Given the description of an element on the screen output the (x, y) to click on. 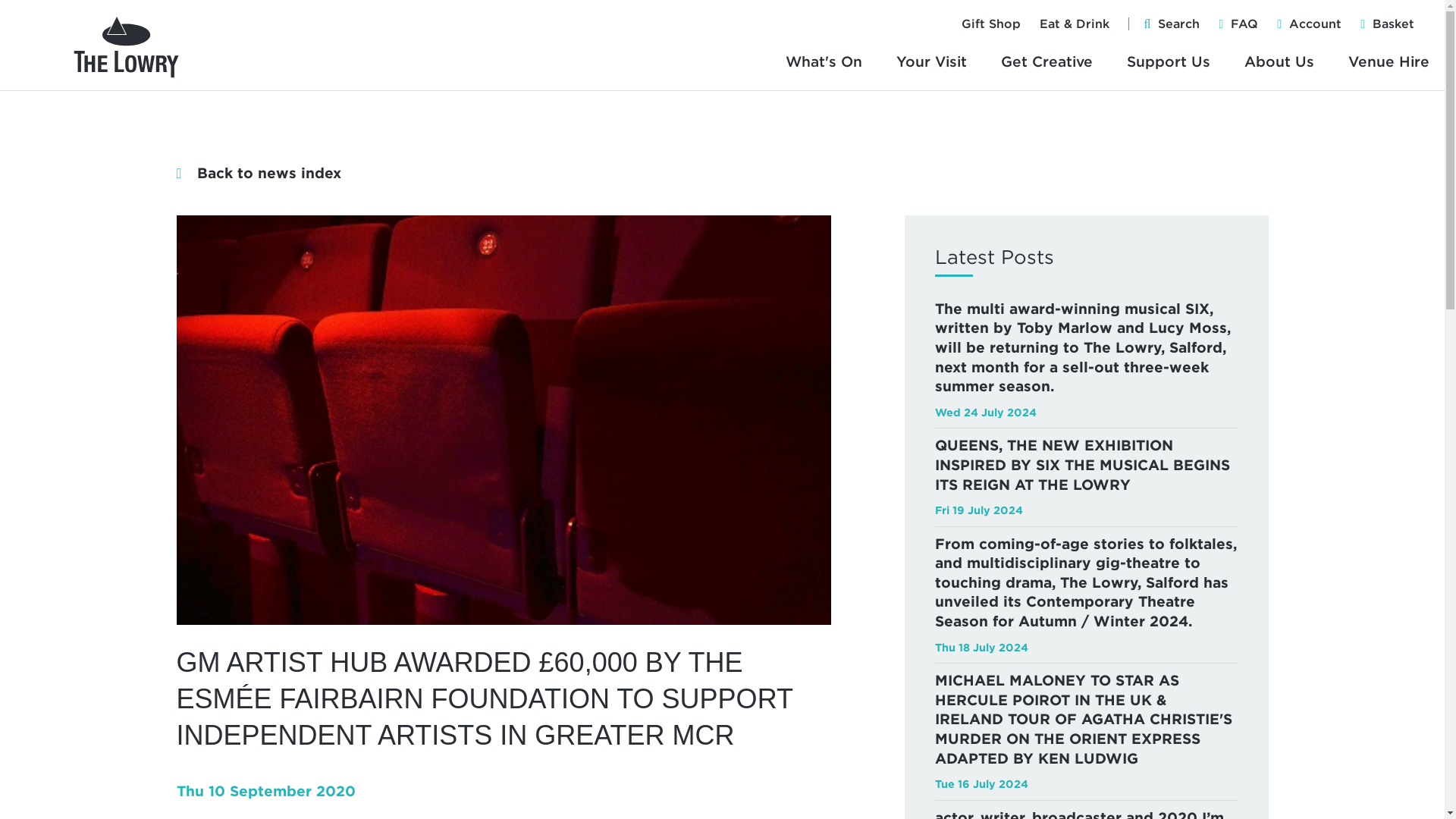
Support Us (1167, 61)
Gift Shop (990, 23)
Search (1178, 23)
What's On (823, 61)
About Us (1279, 61)
Venue Hire (1388, 61)
Basket (1393, 23)
Account (1314, 23)
Get Creative (1047, 61)
Your Visit (931, 61)
Back to news index (258, 172)
FAQ (1243, 23)
